Given the description of an element on the screen output the (x, y) to click on. 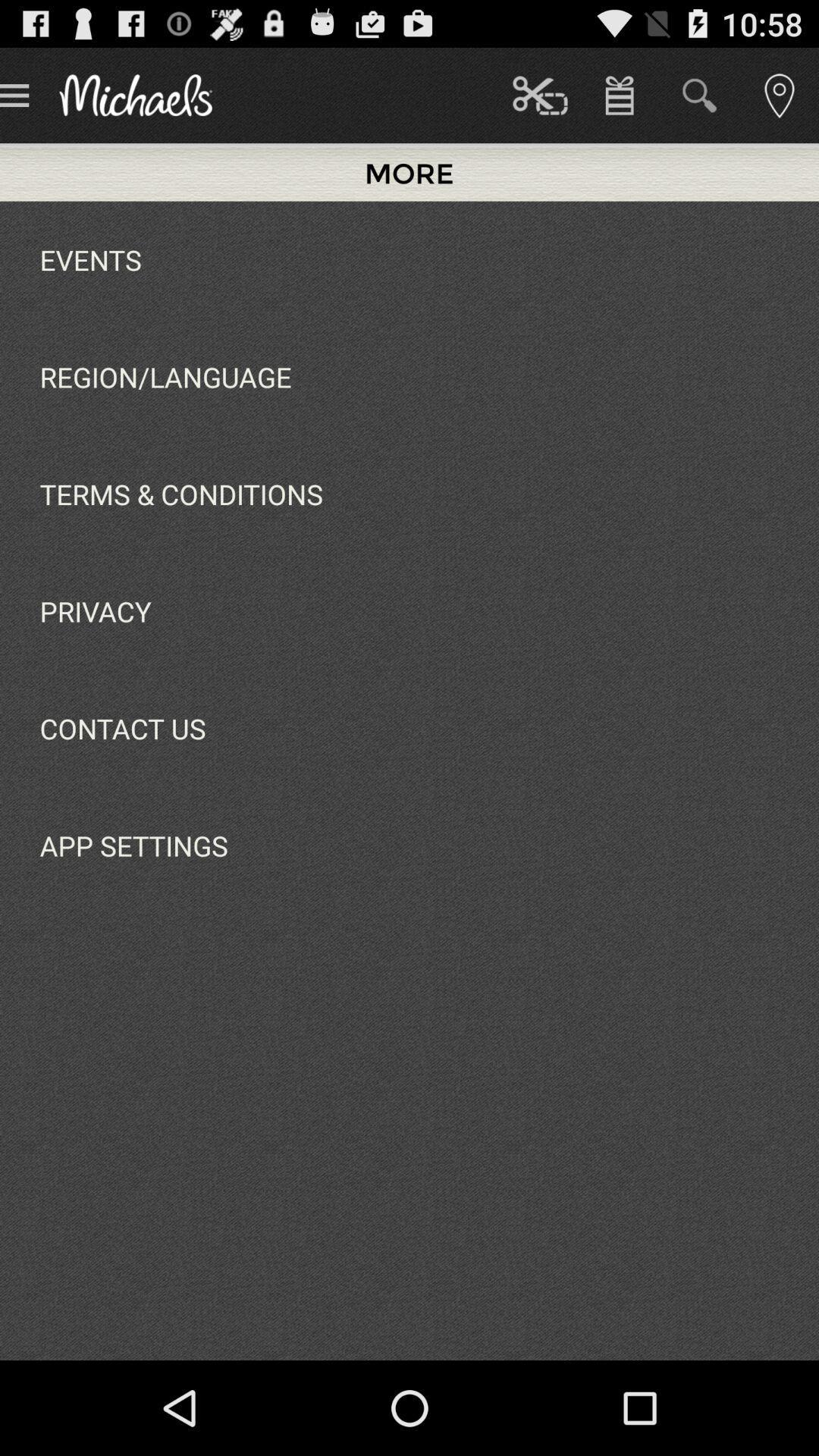
select region/language icon (165, 376)
